Given the description of an element on the screen output the (x, y) to click on. 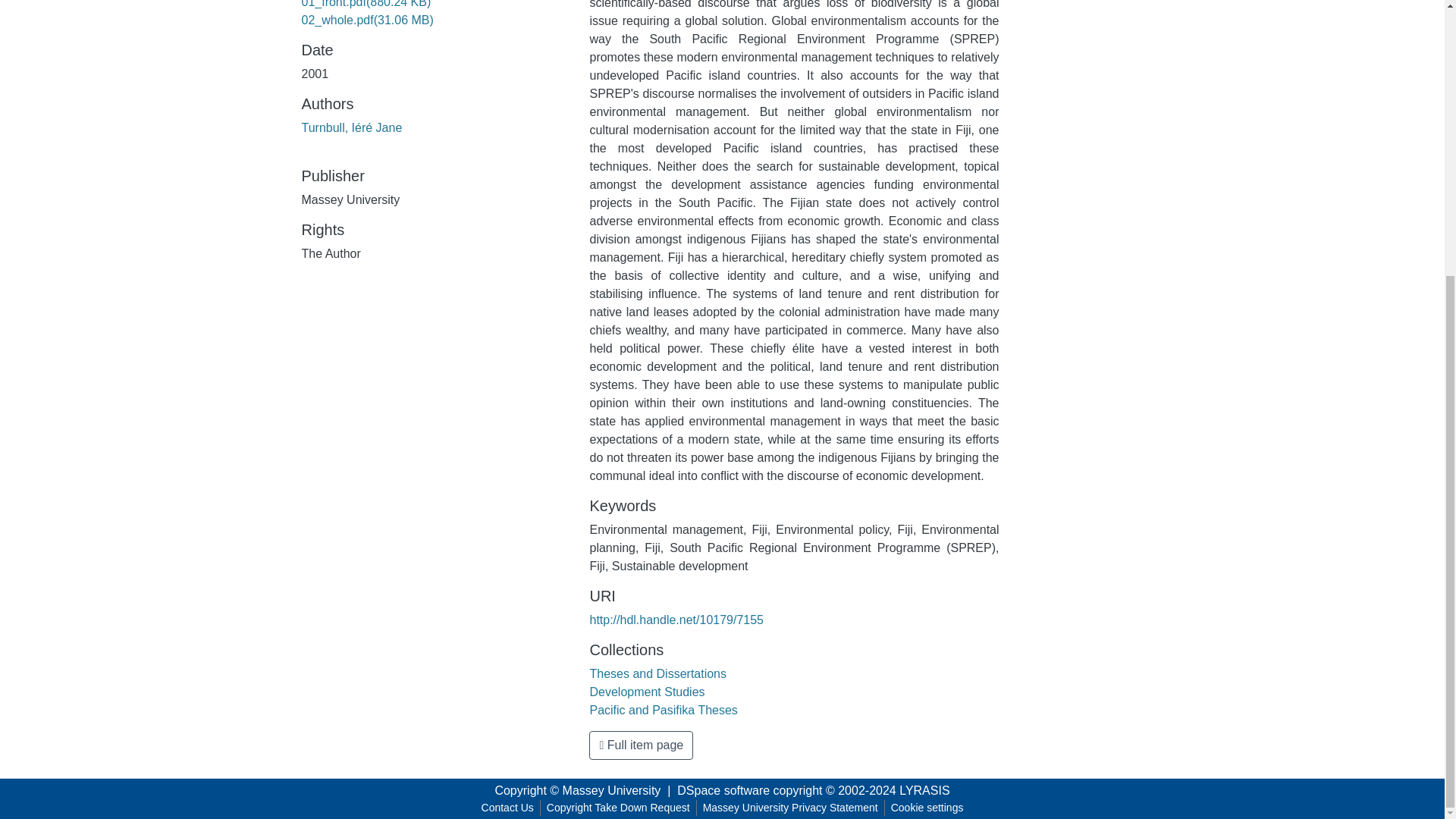
Theses and Dissertations (657, 673)
DSpace software (723, 789)
Pacific and Pasifika Theses (662, 709)
Development Studies (646, 691)
Full item page (641, 745)
